Given the description of an element on the screen output the (x, y) to click on. 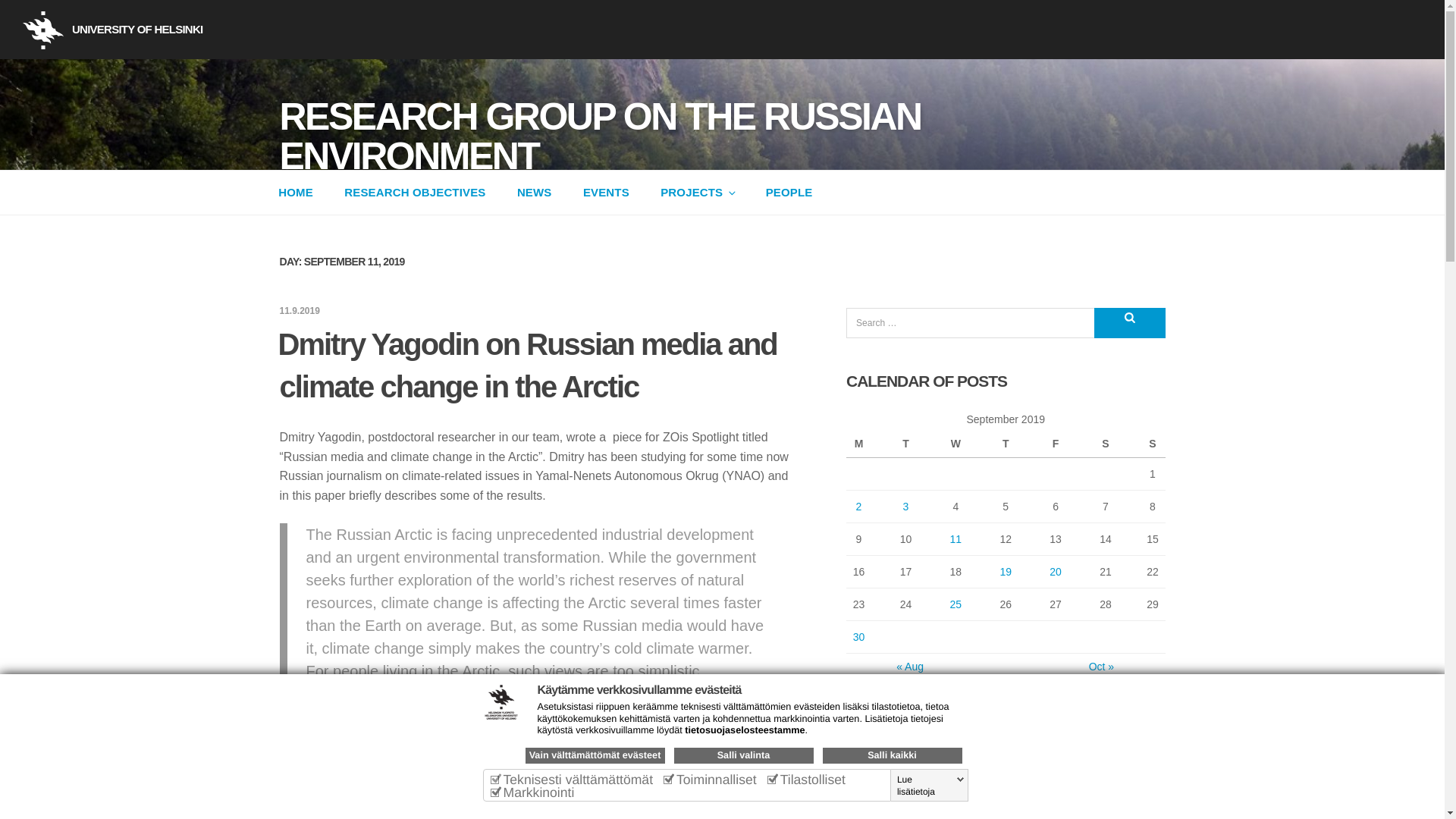
Salli valinta (742, 755)
tietosuojaselosteestamme (744, 729)
Salli kaikki (891, 755)
